Given the description of an element on the screen output the (x, y) to click on. 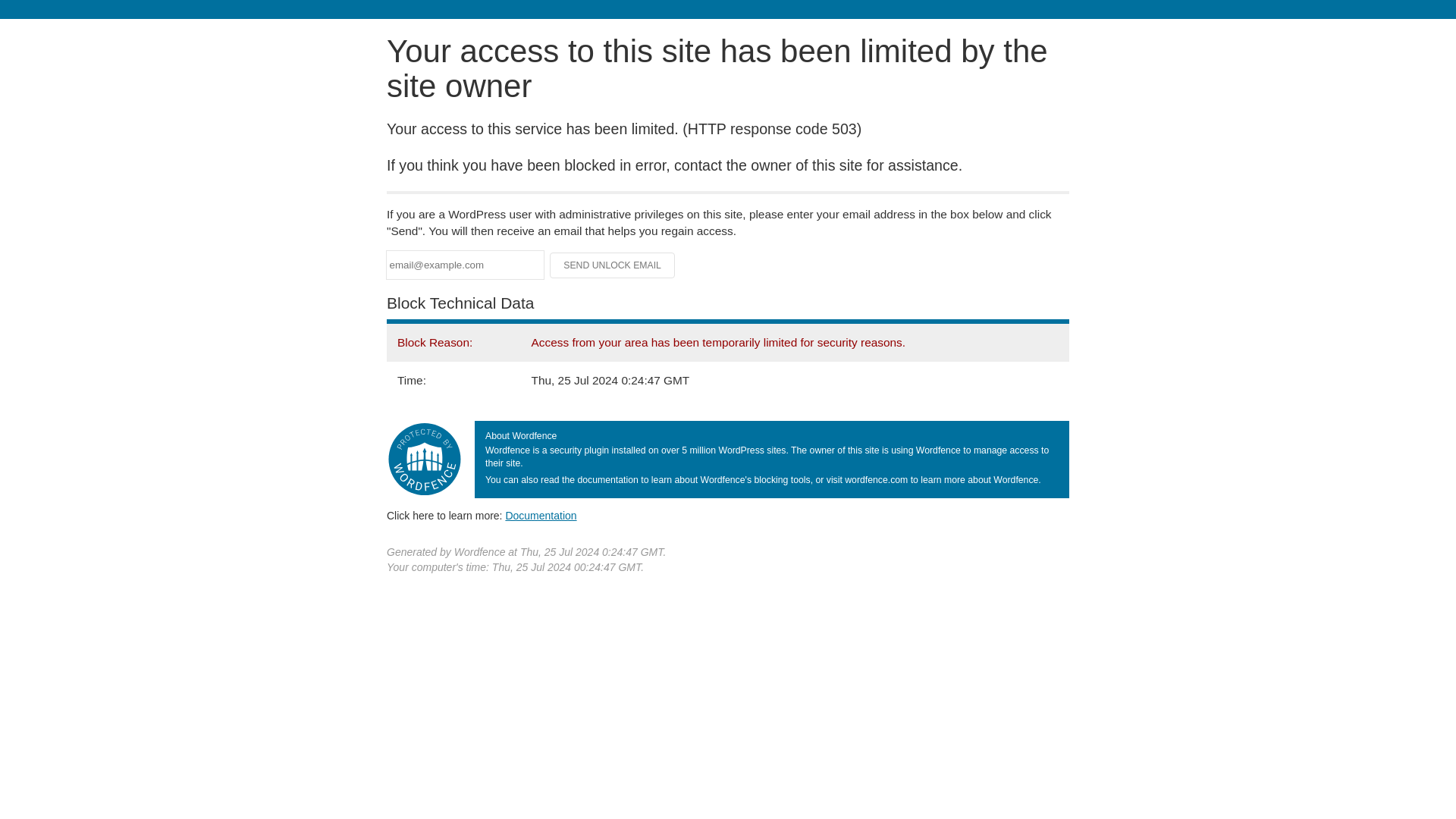
Send Unlock Email (612, 265)
Documentation (540, 515)
Send Unlock Email (612, 265)
